Given the description of an element on the screen output the (x, y) to click on. 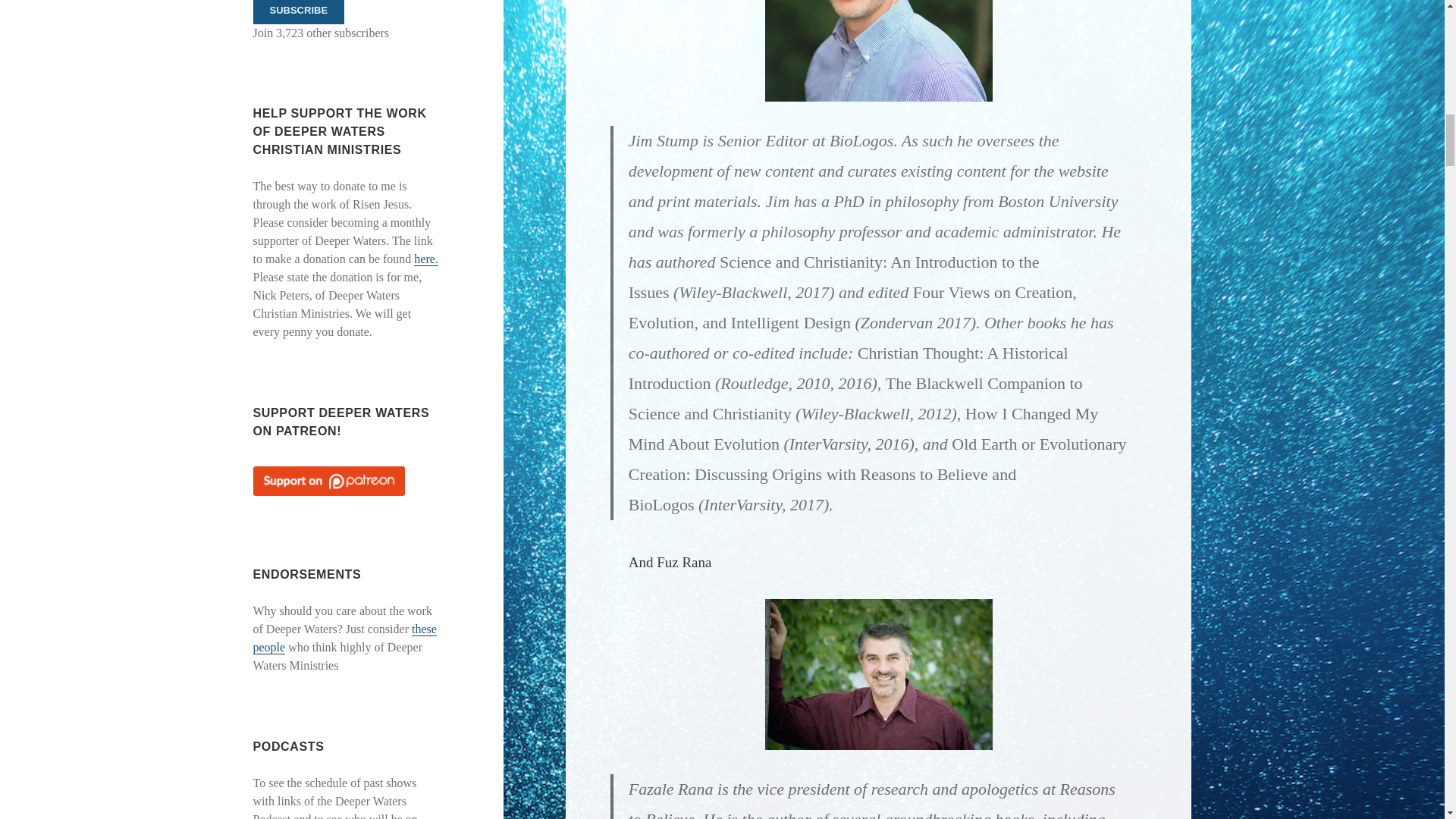
these people (344, 638)
here. (425, 259)
SUBSCRIBE (299, 12)
